Given the description of an element on the screen output the (x, y) to click on. 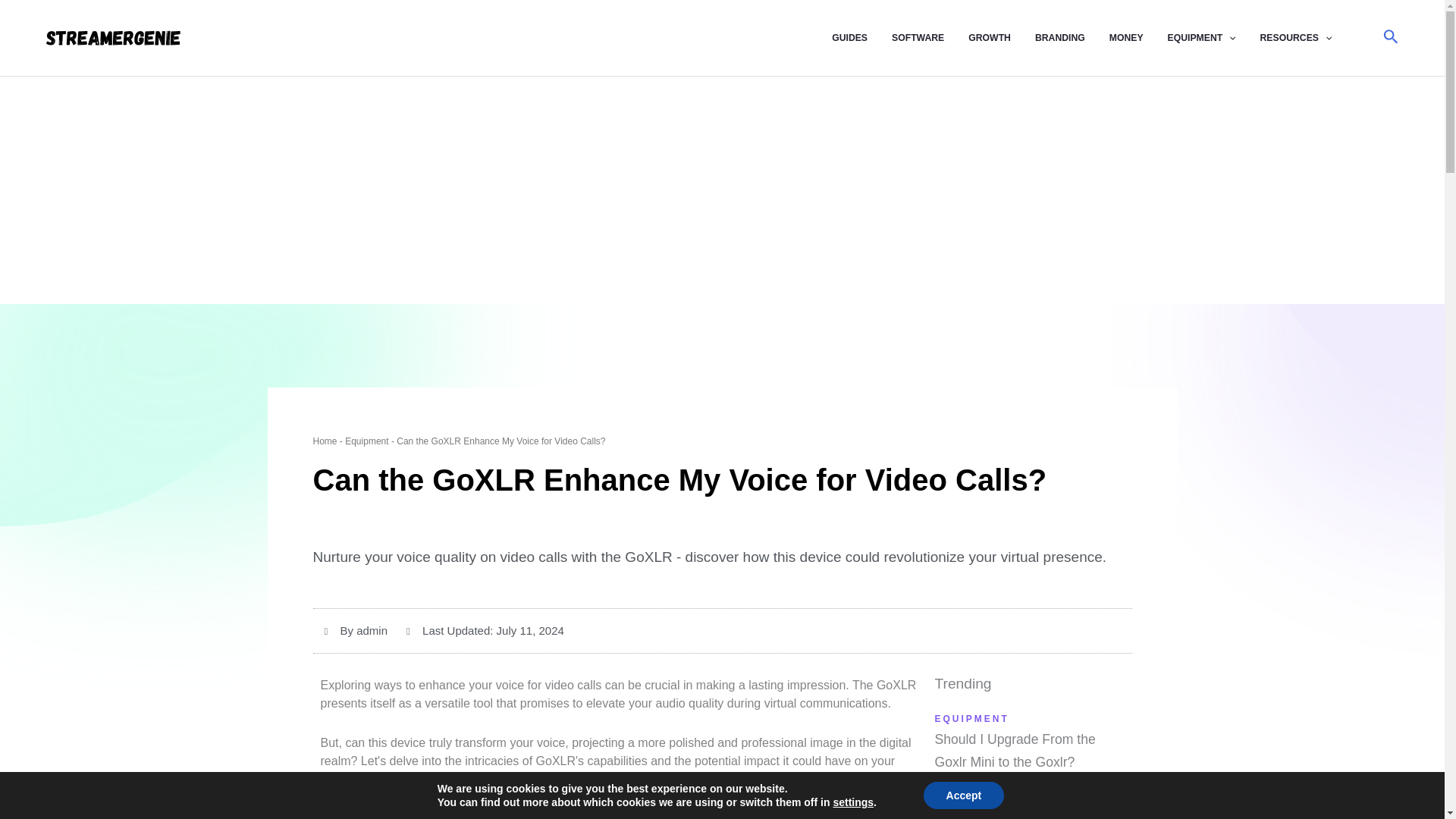
BRANDING (1072, 38)
EQUIPMENT (1213, 38)
By admin (356, 630)
SOFTWARE (929, 38)
Home (324, 440)
RESOURCES (1308, 38)
Equipment (366, 440)
